Given the description of an element on the screen output the (x, y) to click on. 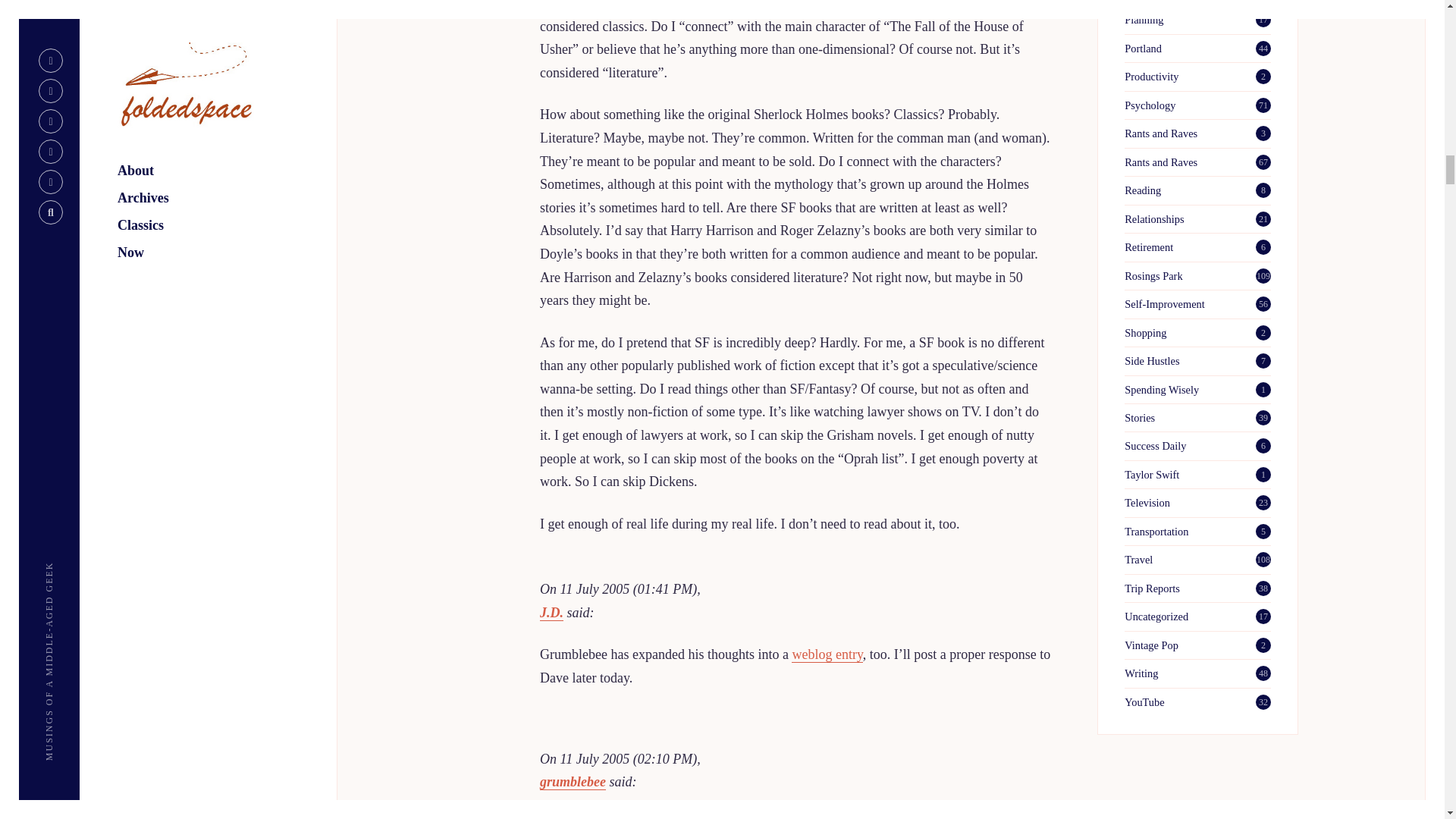
weblog entry (826, 654)
grumblebee (572, 781)
J.D. (551, 612)
